Given the description of an element on the screen output the (x, y) to click on. 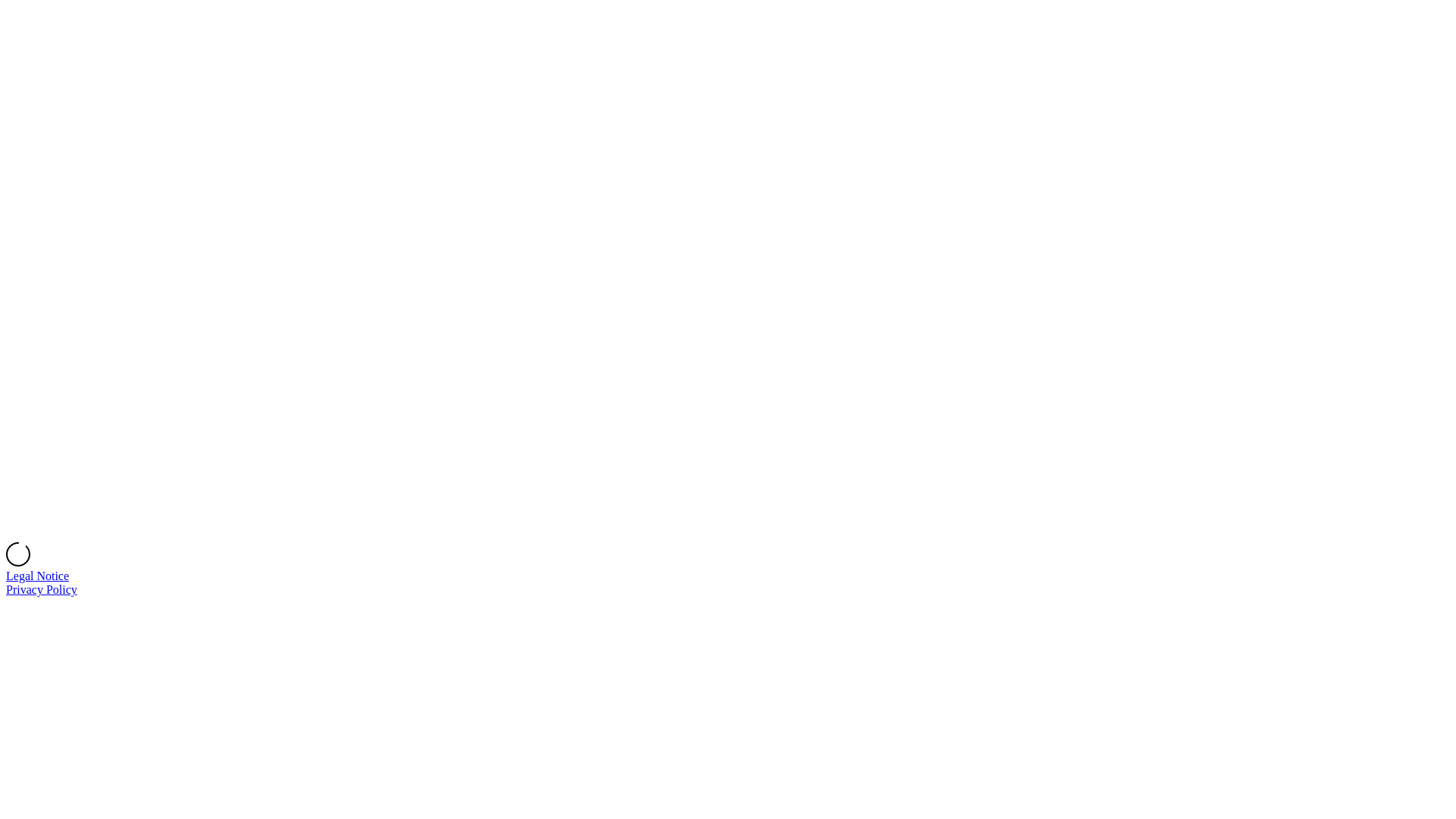
Jimdo Logo Element type: hover (727, 274)
Privacy Policy Element type: text (41, 589)
Legal Notice Element type: text (37, 575)
